Given the description of an element on the screen output the (x, y) to click on. 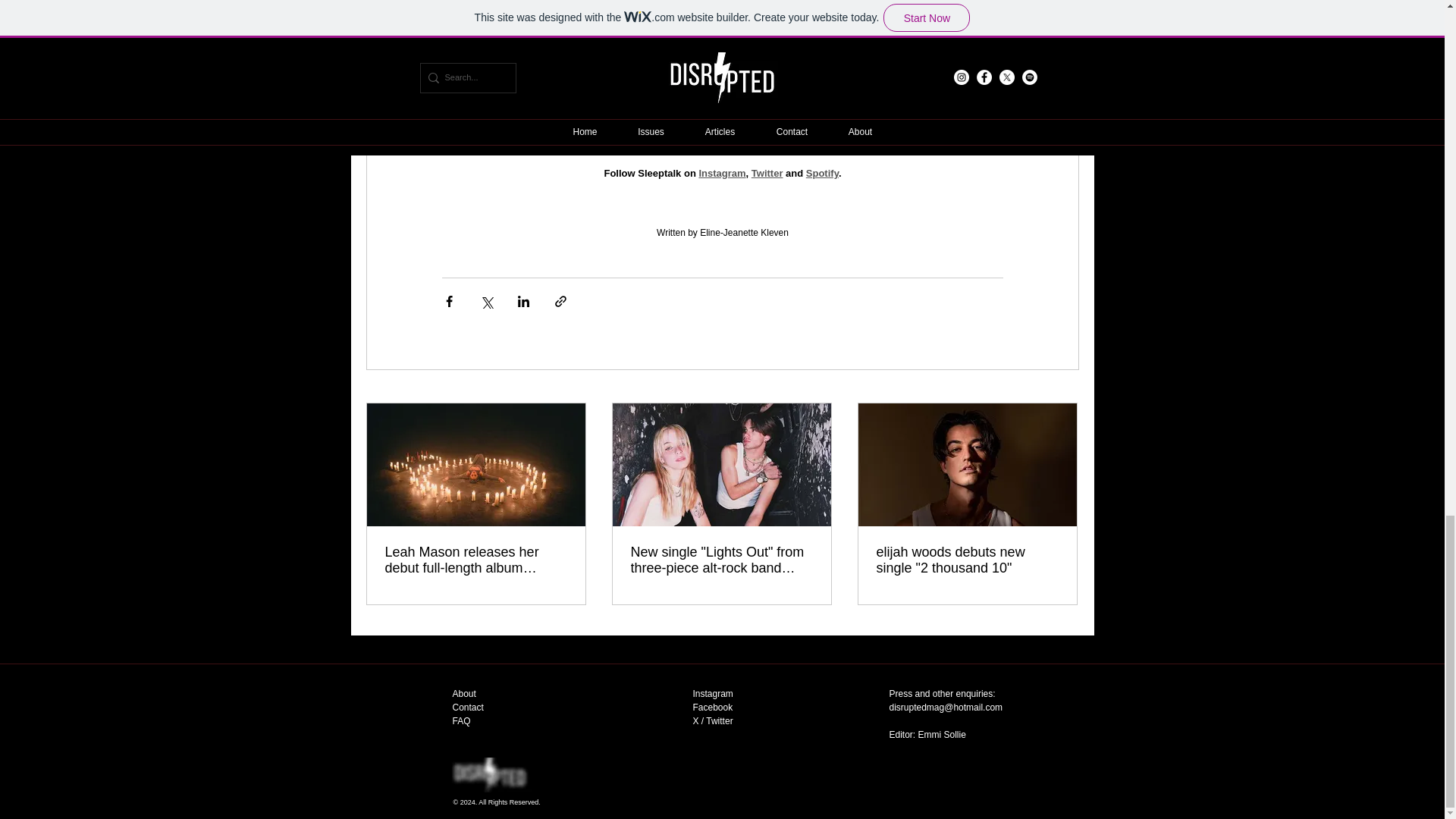
Facebook (713, 706)
FAQ (460, 720)
Spotify (821, 173)
Contact (467, 706)
elijah woods debuts new single "2 thousand 10" (967, 560)
Instagram (721, 173)
Leah Mason releases her debut full-length album HEXED (476, 560)
Instagram (713, 693)
remote content (722, 103)
